Given the description of an element on the screen output the (x, y) to click on. 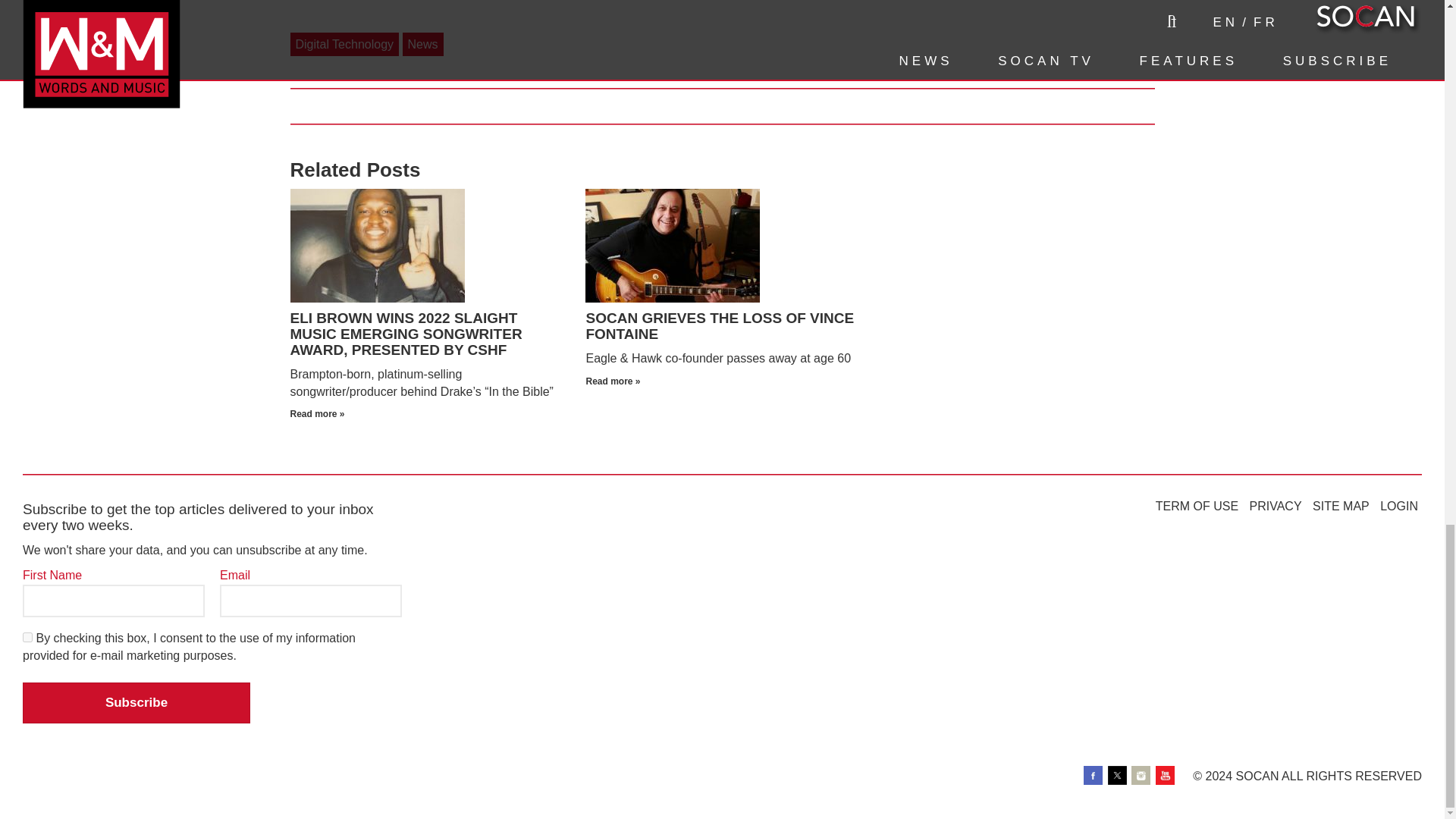
1 (27, 637)
